Given the description of an element on the screen output the (x, y) to click on. 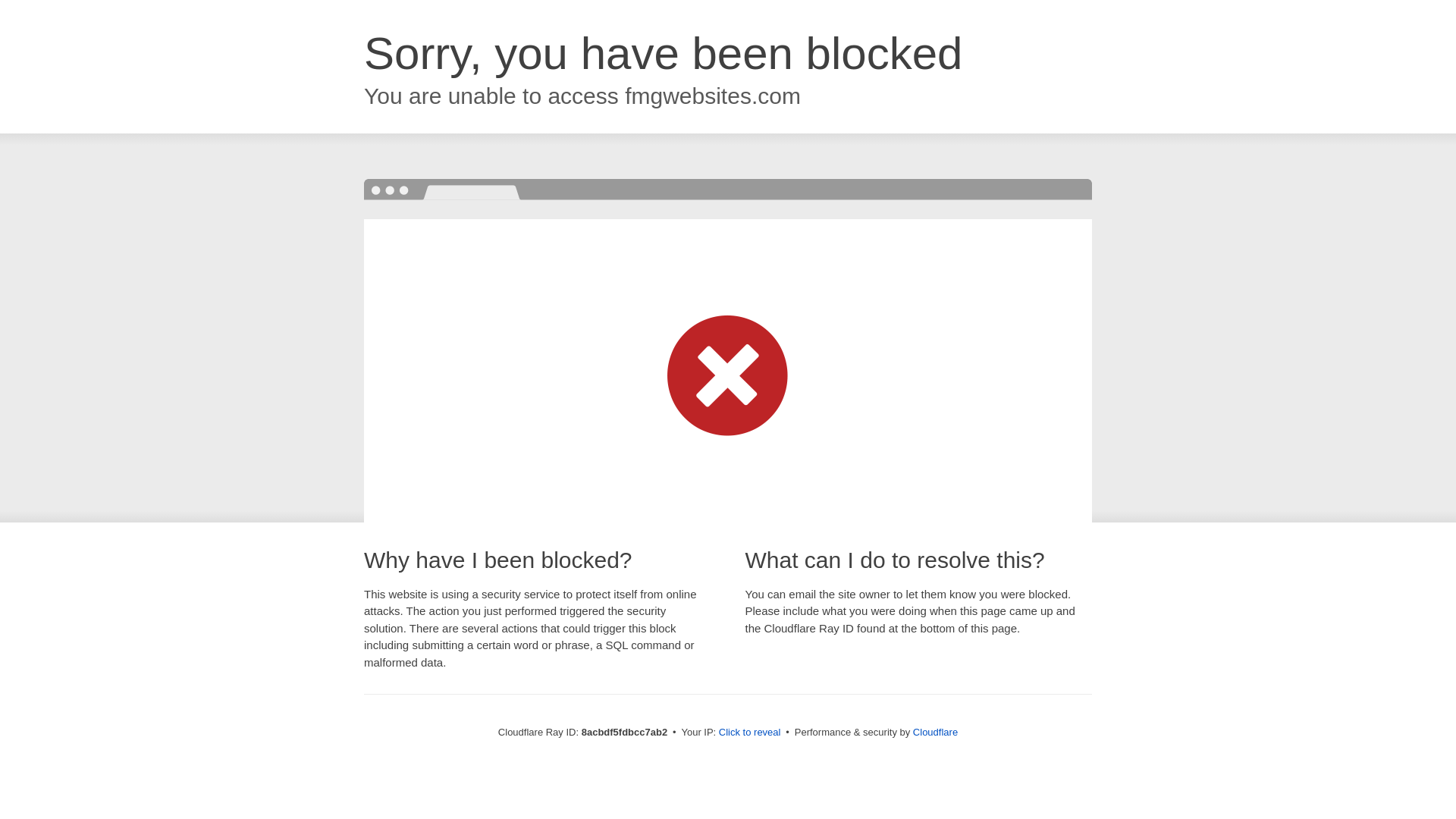
Cloudflare (935, 731)
Click to reveal (749, 732)
